Given the description of an element on the screen output the (x, y) to click on. 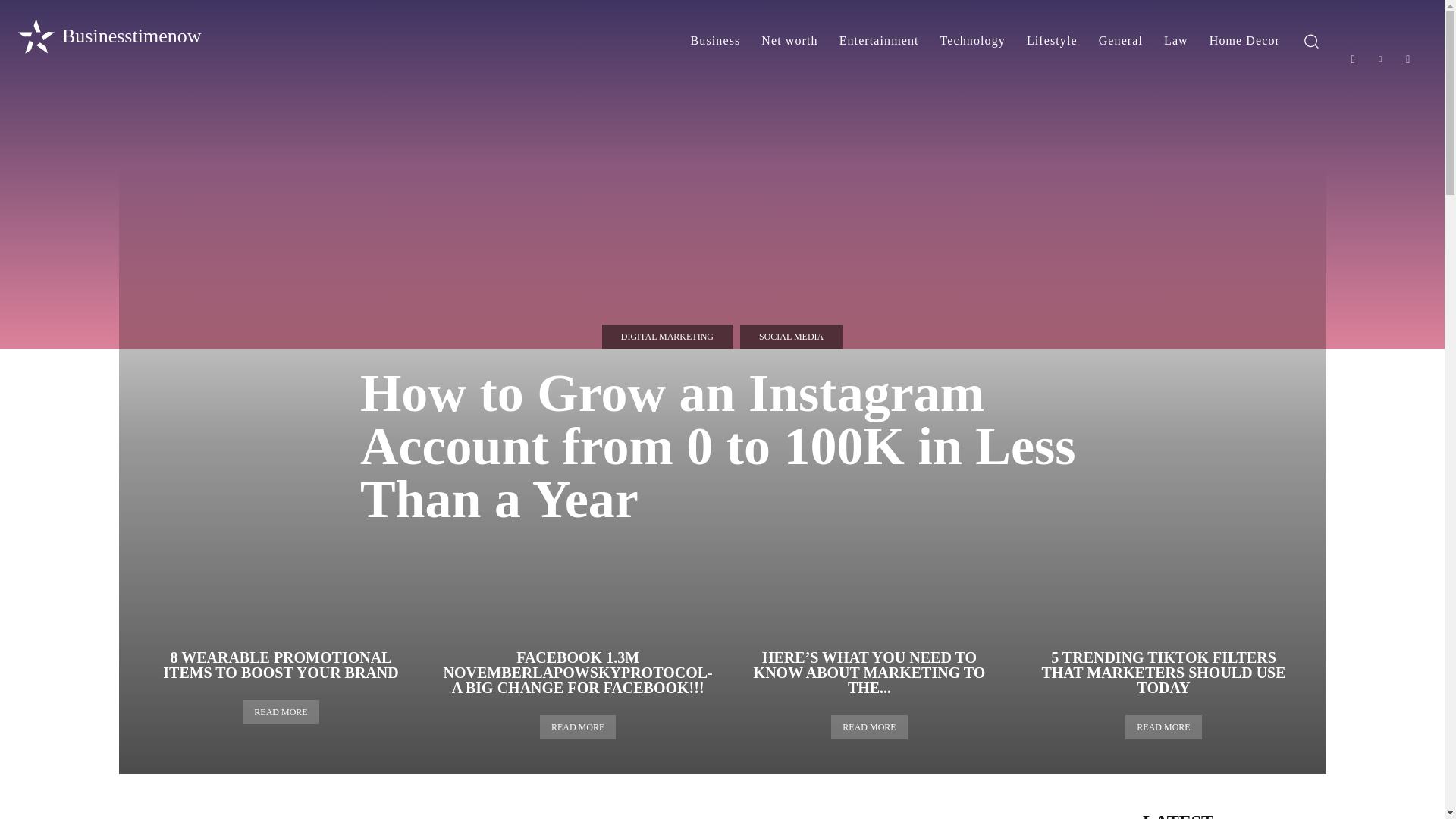
Net worth (789, 40)
Home Decor (1244, 40)
Entertainment (879, 40)
DIGITAL MARKETING (667, 336)
Facebook (1353, 58)
Businesstimenow (107, 36)
SOCIAL MEDIA (791, 336)
Law (1175, 40)
8 Wearable Promotional Items to Boost Your Brand (280, 664)
Lifestyle (1051, 40)
Business (715, 40)
General (1120, 40)
Technology (973, 40)
Businesstimenow (107, 36)
RSS (1408, 58)
